Given the description of an element on the screen output the (x, y) to click on. 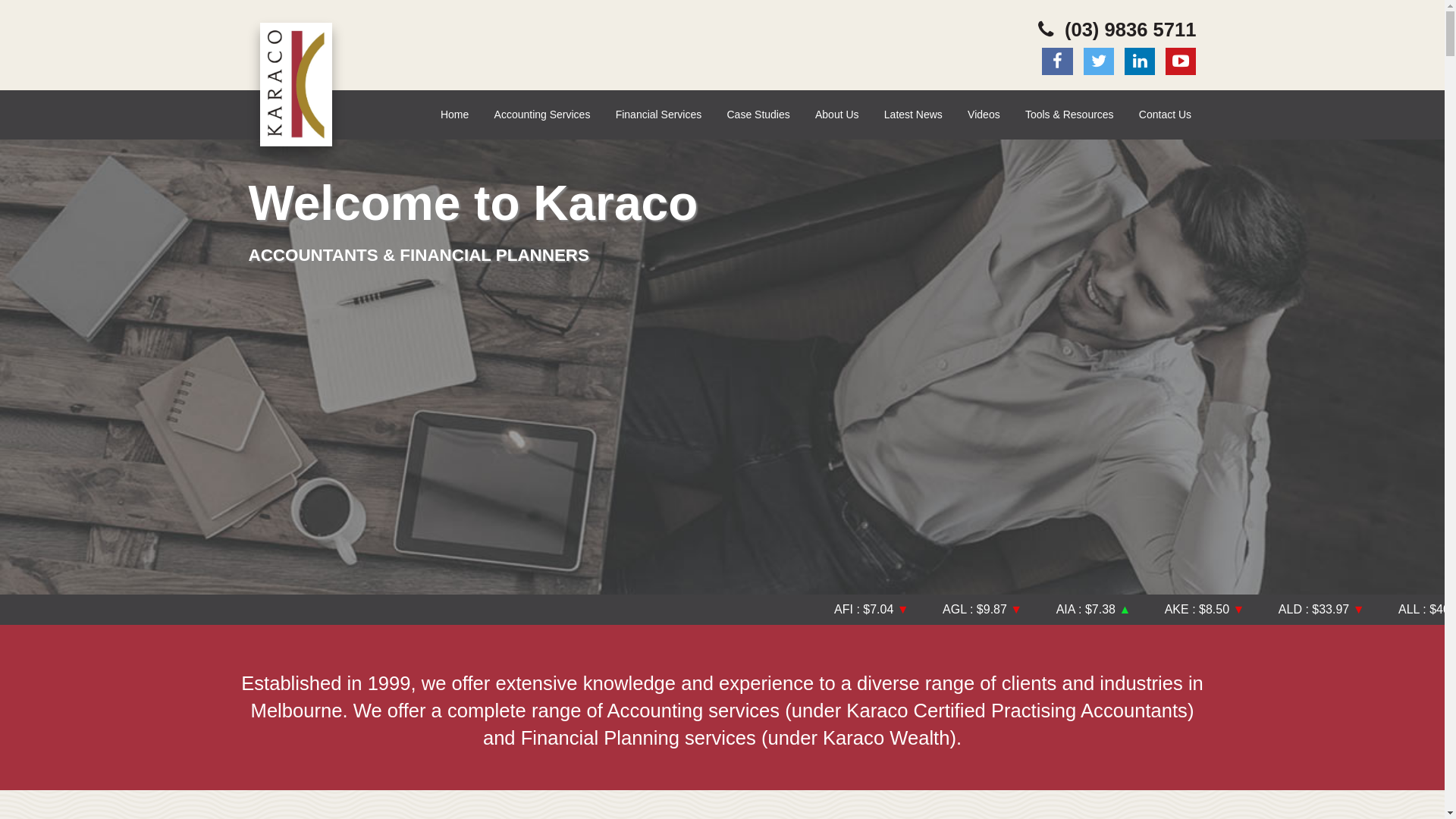
Videos Element type: text (983, 114)
About Us Element type: text (836, 114)
Home Element type: text (454, 114)
Tools & Resources Element type: text (1069, 114)
(03) 9836 5711 Element type: text (1114, 29)
Contact Us Element type: text (1164, 114)
Financial Services Element type: text (658, 114)
Accounting Services Element type: text (542, 114)
Case Studies Element type: text (757, 114)
Latest News Element type: text (912, 114)
